Given the description of an element on the screen output the (x, y) to click on. 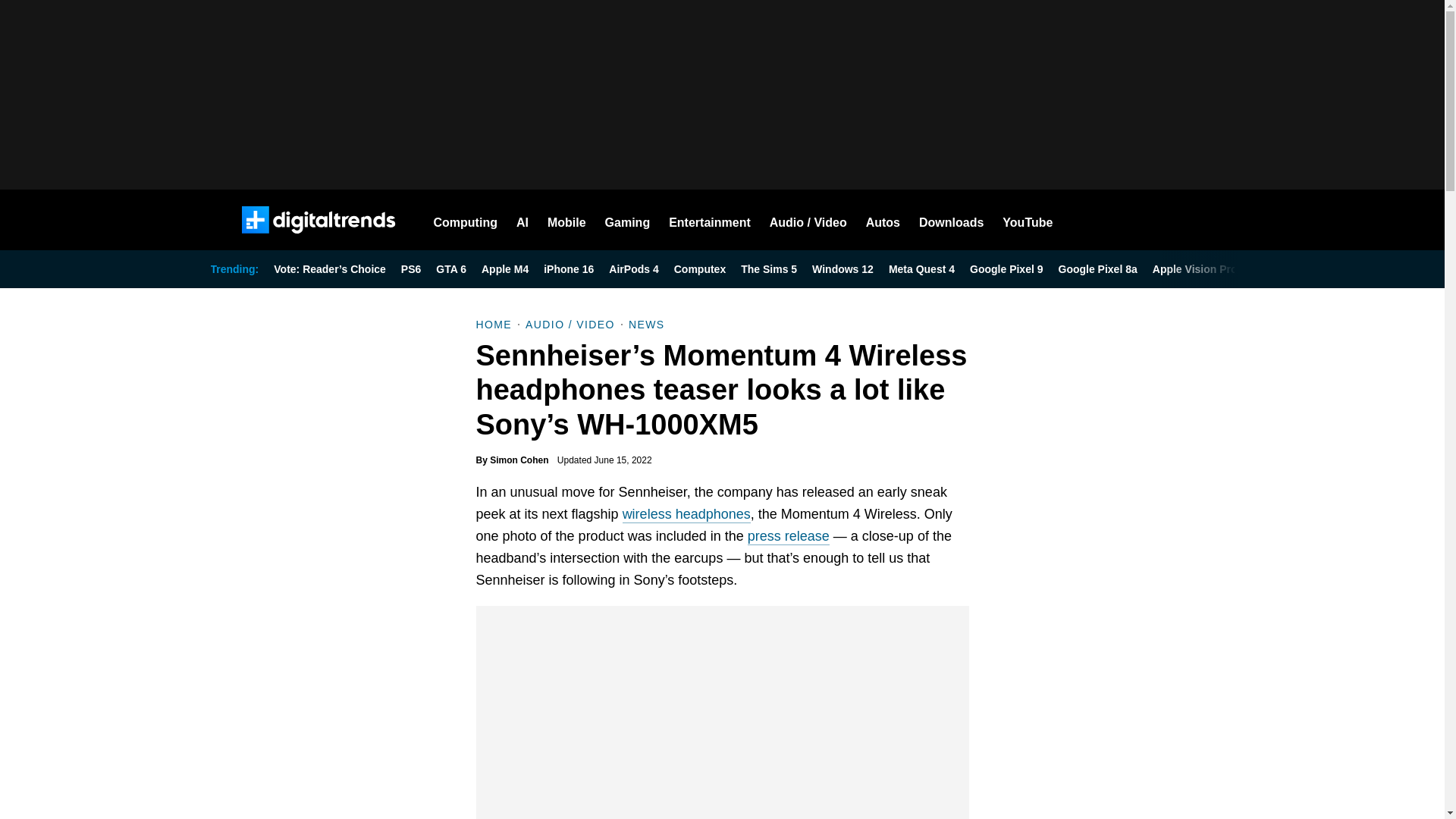
Downloads (951, 219)
Entertainment (709, 219)
Computing (465, 219)
